Given the description of an element on the screen output the (x, y) to click on. 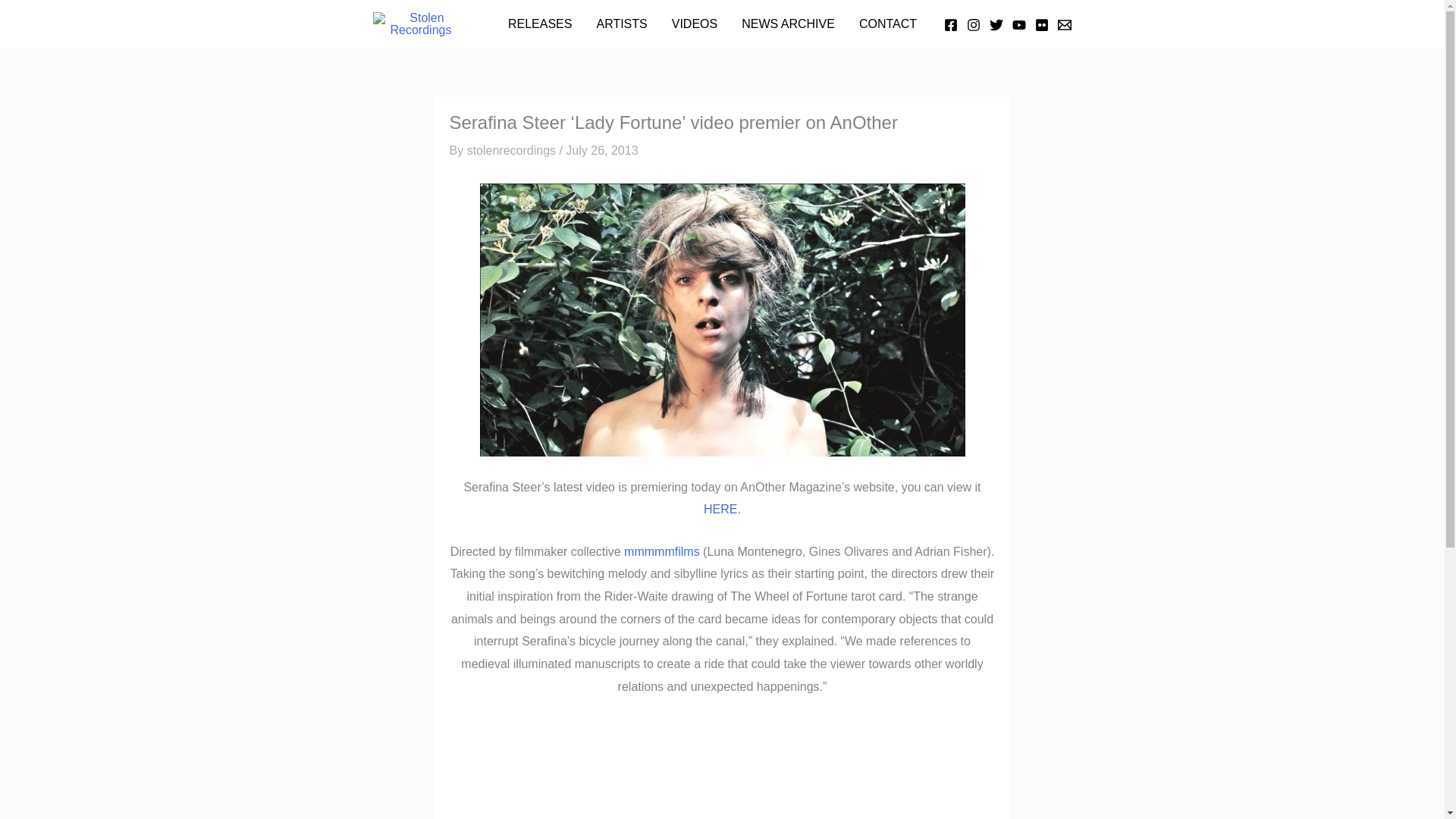
VIDEOS (694, 23)
CONTACT (887, 23)
NEWS ARCHIVE (788, 23)
RELEASES (539, 23)
View all posts by stolenrecordings (513, 150)
ARTISTS (621, 23)
